Given the description of an element on the screen output the (x, y) to click on. 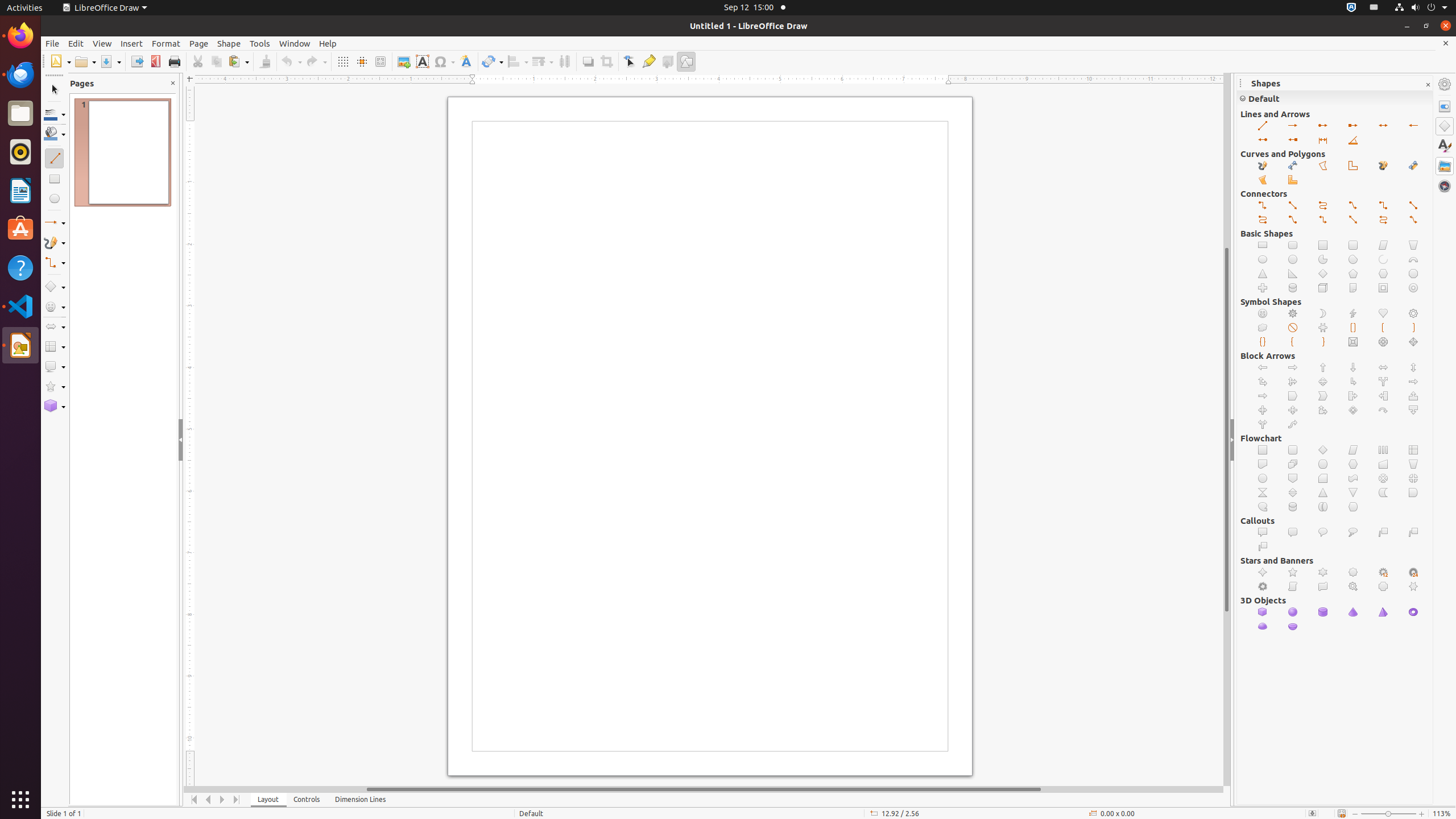
4-way Arrow Element type: list-item (1323, 381)
Right or Left Arrow Element type: list-item (1262, 424)
Isosceles Triangle Element type: list-item (1262, 273)
Line with Arrow/Square Element type: list-item (1292, 140)
4-way Arrow Callout Element type: list-item (1353, 410)
